Given the description of an element on the screen output the (x, y) to click on. 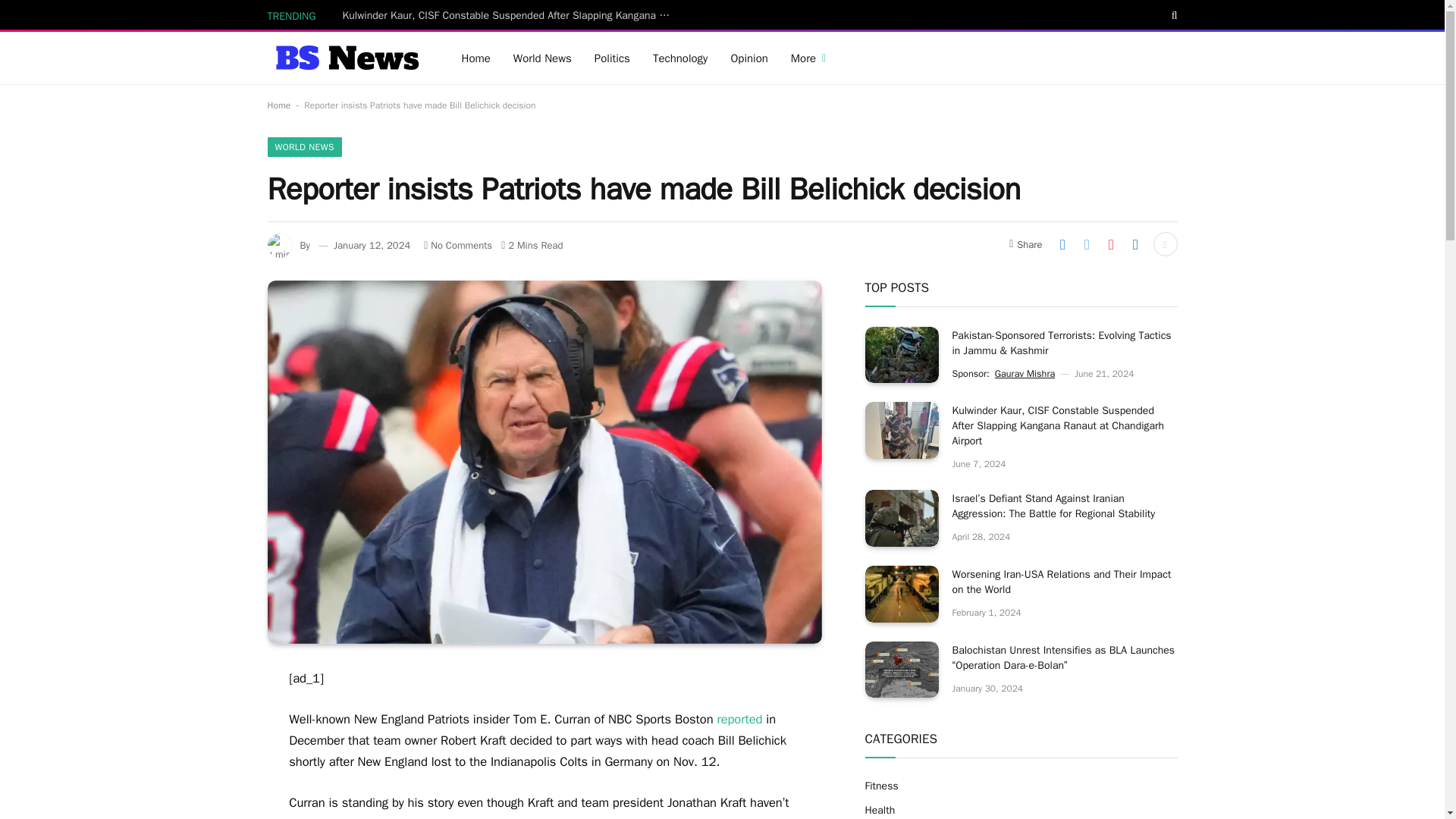
bsnews.in (344, 57)
Show More Social Sharing (1164, 243)
No Comments (457, 245)
Home (277, 105)
Share on Facebook (1062, 243)
Share on Pinterest (1110, 243)
Technology (680, 57)
Home (475, 57)
Share on LinkedIn (1135, 243)
More (807, 57)
WORLD NEWS (303, 147)
World News (542, 57)
Opinion (748, 57)
Politics (612, 57)
